Given the description of an element on the screen output the (x, y) to click on. 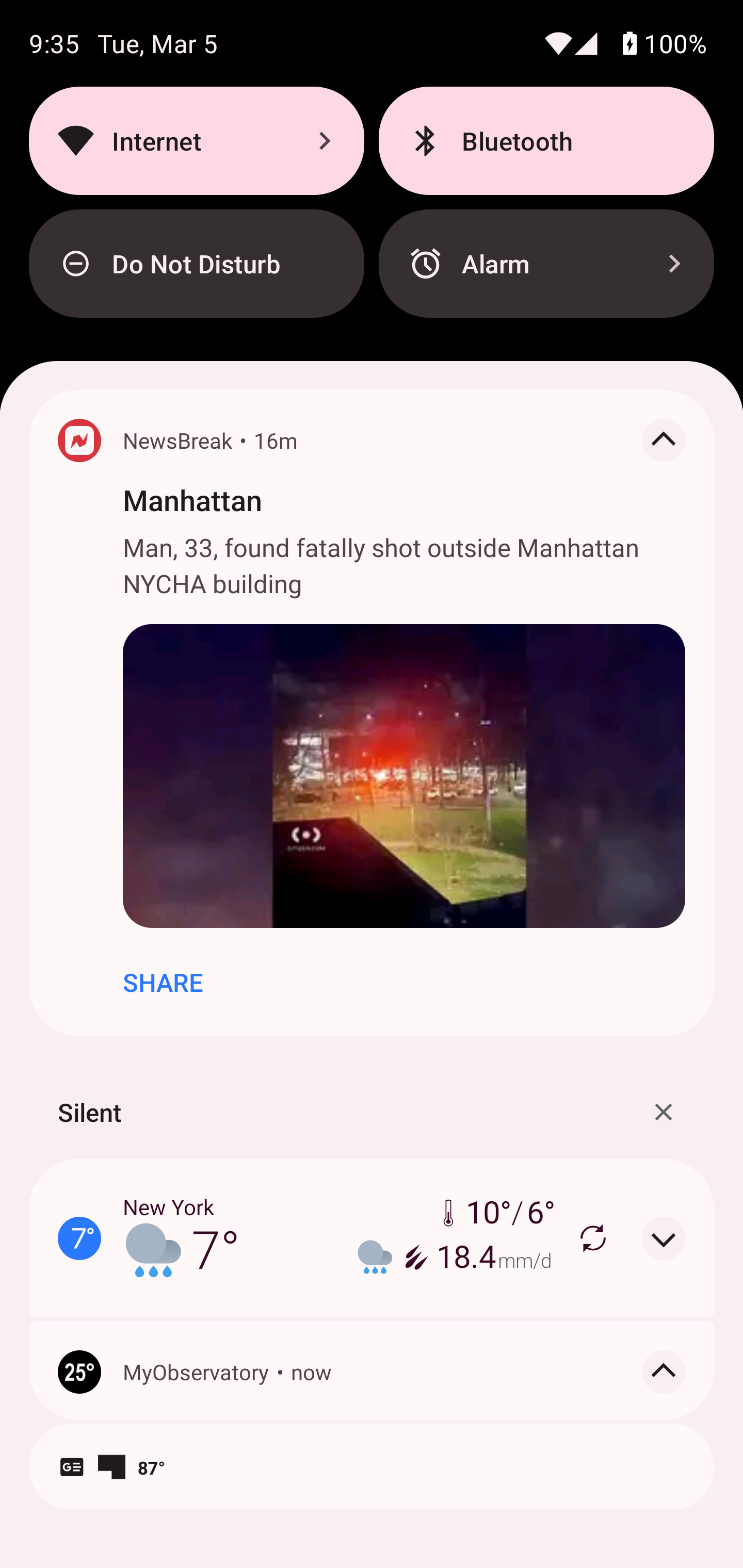
On Internet,AndroidWifi Internet (196, 140)
On Bluetooth. Bluetooth (546, 140)
Off Do Not Disturb. Do Not Disturb (196, 264)
Alarm, No alarm set Alarm (546, 264)
Collapse (663, 440)
SHARE Share (163, 982)
Silent (89, 1112)
Clear all silent notifications (663, 1112)
New York 7° 10° / 6° 18.4 mm/d Expand (371, 1237)
Expand (663, 1237)
MyObservatory • 1 minute ago Collapse (371, 1415)
Collapse (663, 1371)
